Given the description of an element on the screen output the (x, y) to click on. 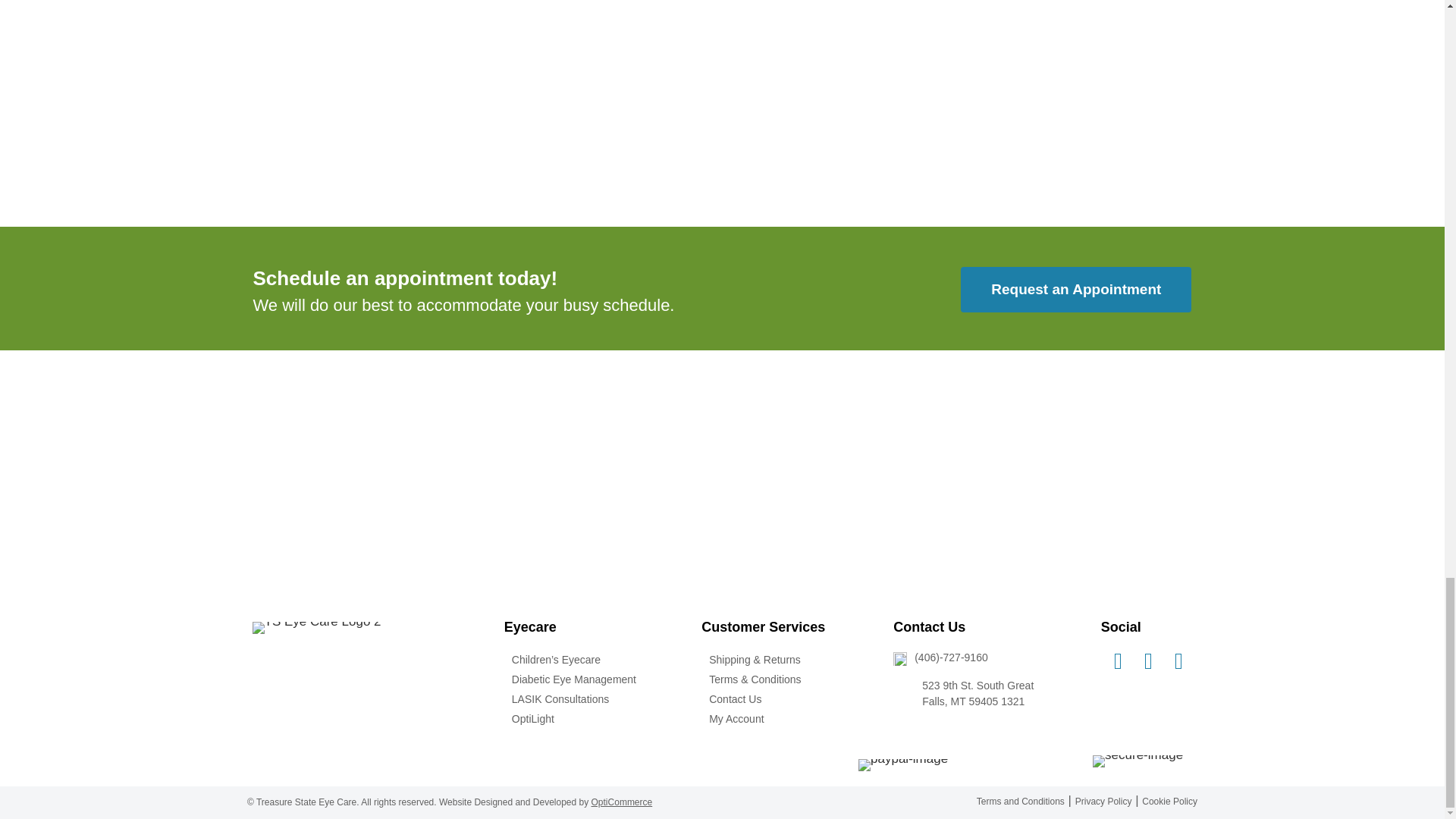
TikTok (1147, 661)
paypal-image (903, 765)
secure-image (1137, 761)
TS Eye Care Logo 2 (324, 668)
